Given the description of an element on the screen output the (x, y) to click on. 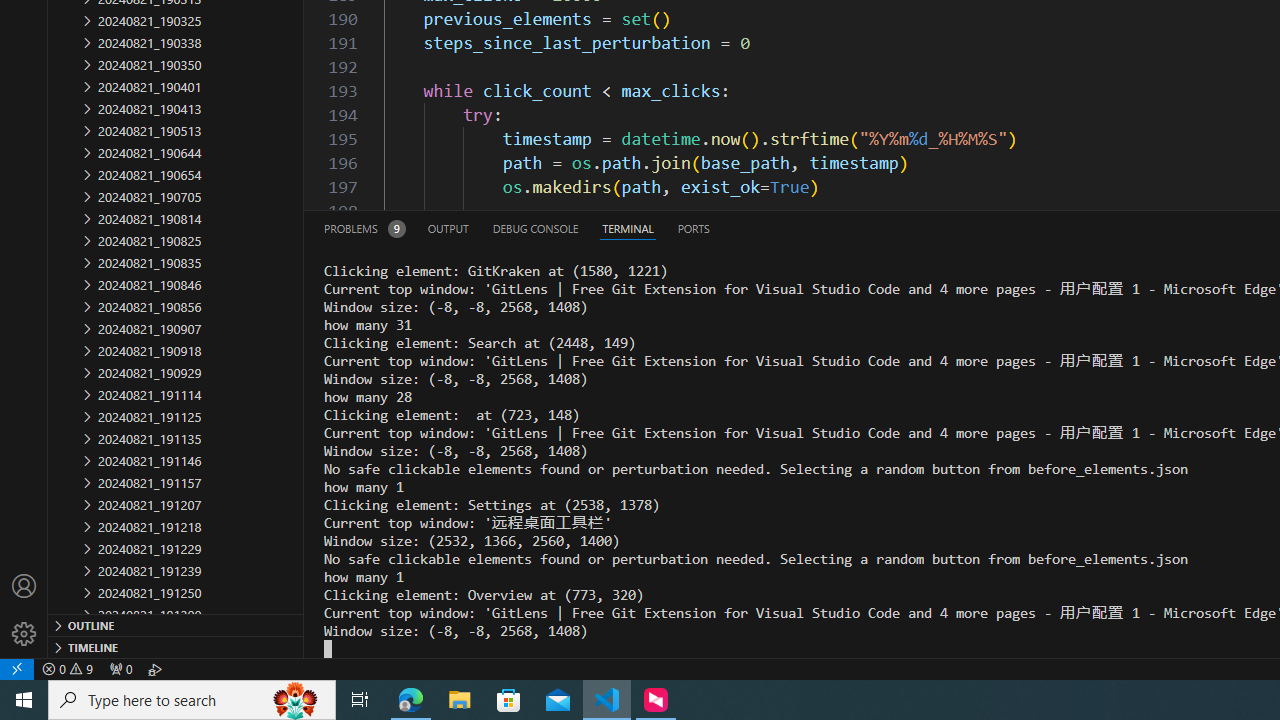
remote (17, 668)
Debug Console (Ctrl+Shift+Y) (535, 228)
Outline Section (175, 624)
Output (Ctrl+Shift+U) (447, 228)
Debug:  (155, 668)
No Ports Forwarded (120, 668)
Problems (Ctrl+Shift+M) - Total 9 Problems (364, 228)
Ports (693, 228)
Accounts (24, 585)
Timeline Section (175, 646)
Warnings: 9 (67, 668)
Terminal (Ctrl+`) (627, 228)
